Given the description of an element on the screen output the (x, y) to click on. 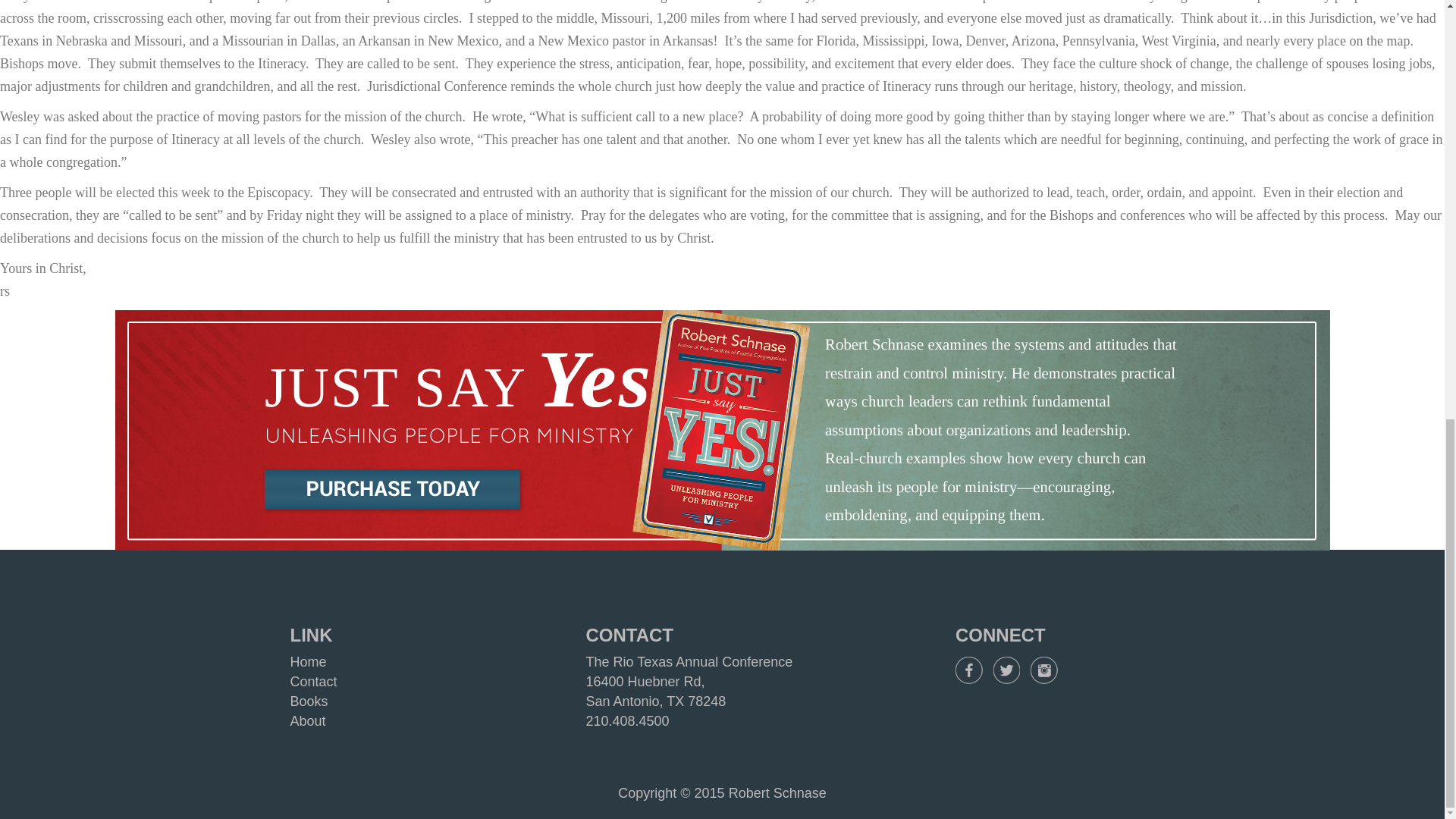
Contact (312, 681)
About (306, 720)
210.408.4500 (626, 720)
Home (307, 661)
Books (308, 701)
